Given the description of an element on the screen output the (x, y) to click on. 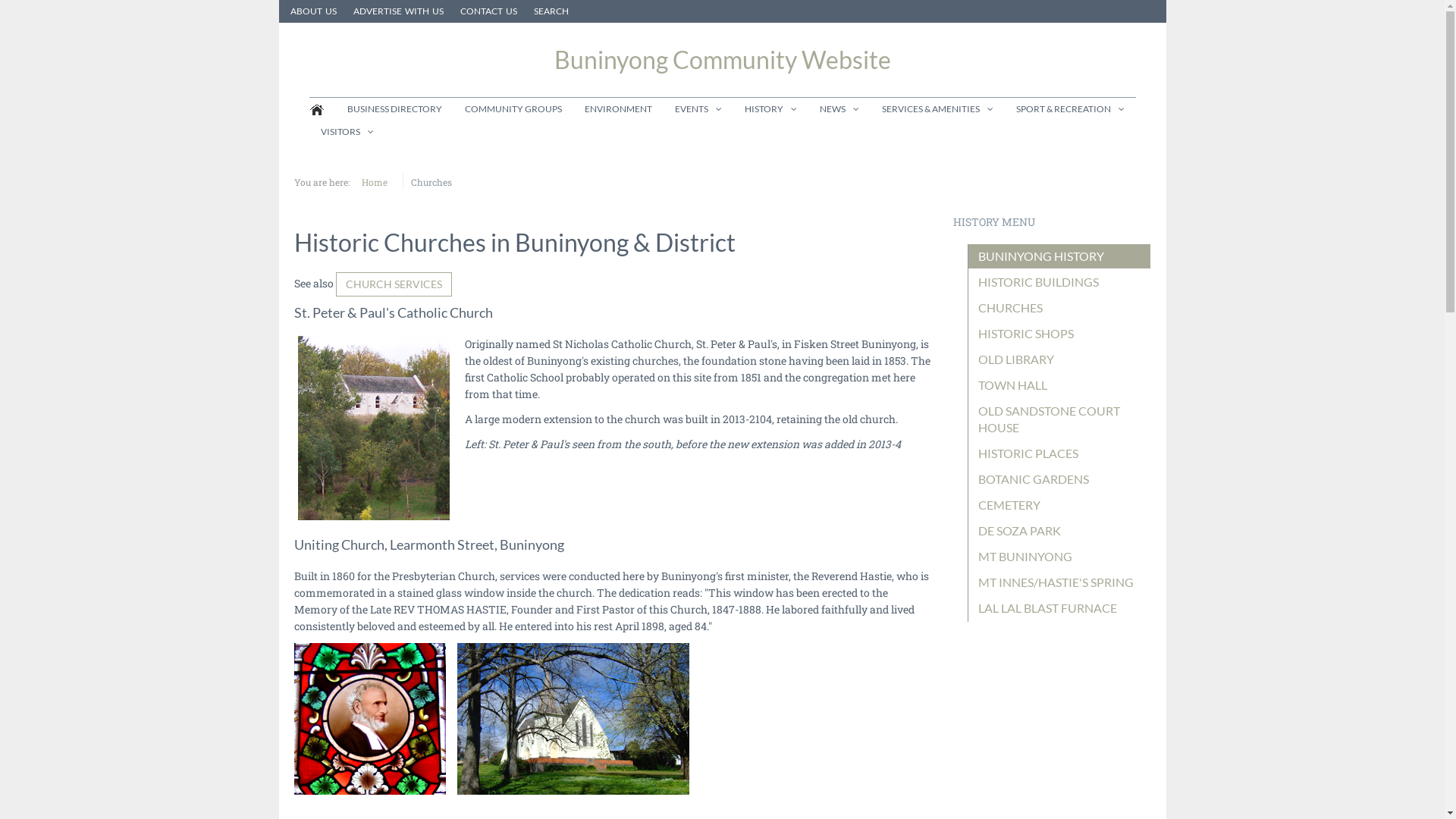
CHURCH SERVICES Element type: text (393, 284)
ABOUT  US Element type: text (312, 11)
DE SOZA PARK Element type: text (1059, 530)
NEWS Element type: text (839, 108)
SEARCH Element type: text (550, 11)
VISITORS Element type: text (341, 131)
Buninyong Community Website Element type: text (722, 59)
CHURCH SERVICES Element type: text (393, 283)
EVENTS Element type: text (697, 108)
HISTORY Element type: text (769, 108)
COMMUNITY GROUPS Element type: text (513, 108)
CHURCHES Element type: text (1059, 307)
HISTORIC PLACES Element type: text (1059, 453)
ADVERTISE  WITH  US Element type: text (398, 11)
ENVIRONMENT Element type: text (618, 108)
OLD SANDSTONE COURT HOUSE Element type: text (1059, 418)
OLD LIBRARY Element type: text (1059, 359)
Home Element type: text (377, 181)
BUSINESS DIRECTORY Element type: text (393, 108)
CEMETERY Element type: text (1059, 504)
BUNINYONG HISTORY Element type: text (1059, 256)
SPORT & RECREATION Element type: text (1069, 108)
BOTANIC GARDENS Element type: text (1059, 479)
MT BUNINYONG Element type: text (1059, 556)
LAL LAL BLAST FURNACE Element type: text (1059, 608)
HISTORIC SHOPS Element type: text (1059, 333)
SERVICES & AMENITIES Element type: text (937, 108)
MT INNES/HASTIE'S SPRING Element type: text (1059, 582)
HISTORIC BUILDINGS Element type: text (1059, 281)
CONTACT  US Element type: text (487, 11)
TOWN HALL Element type: text (1059, 385)
